Given the description of an element on the screen output the (x, y) to click on. 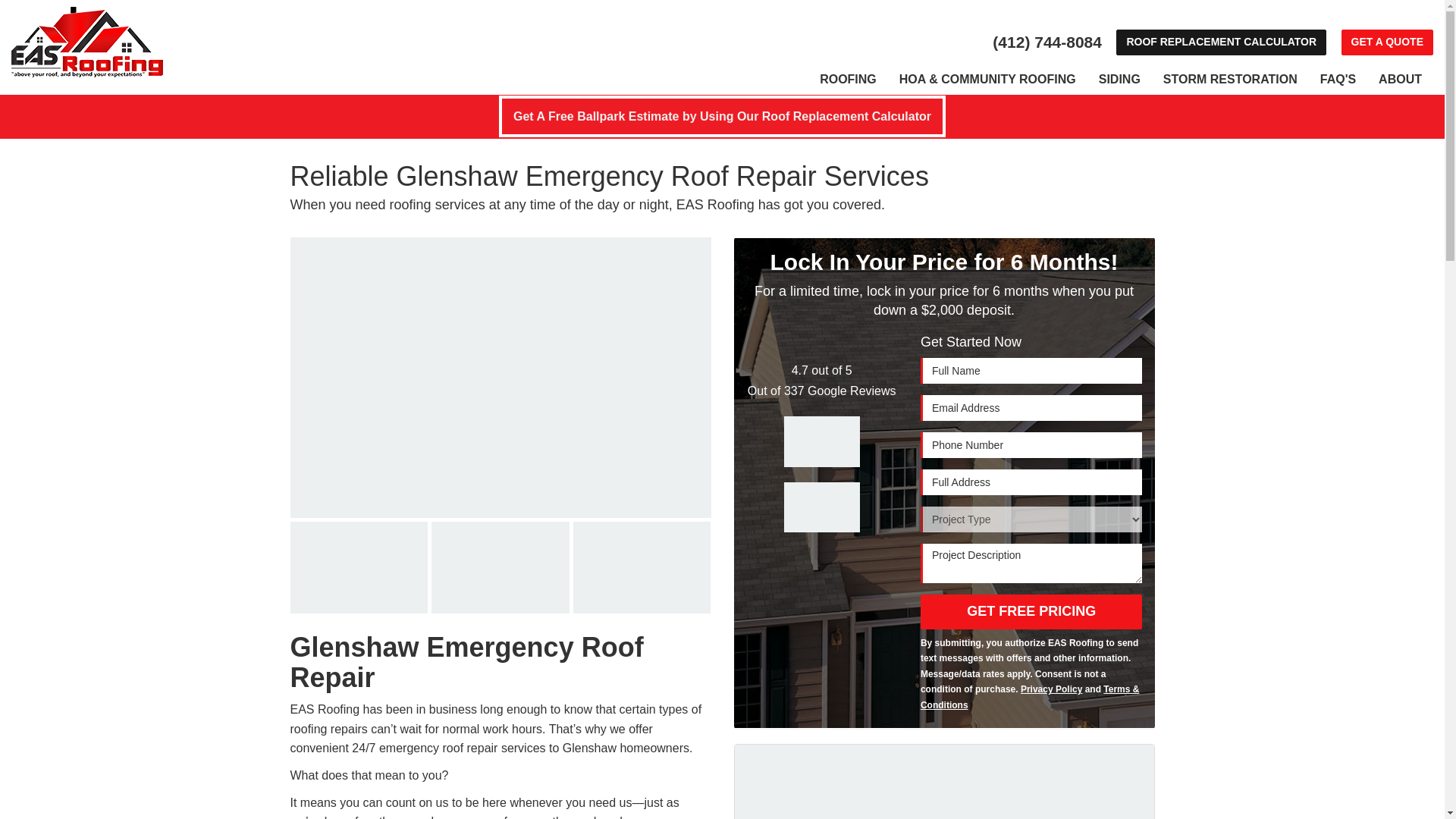
SIDING (1119, 79)
GET A QUOTE (1386, 42)
STORM RESTORATION (1229, 79)
ABOUT (1399, 79)
FAQ'S (1337, 79)
ROOFING (848, 79)
GET A QUOTE (1386, 42)
ROOF REPLACEMENT CALCULATOR (1221, 42)
